Given the description of an element on the screen output the (x, y) to click on. 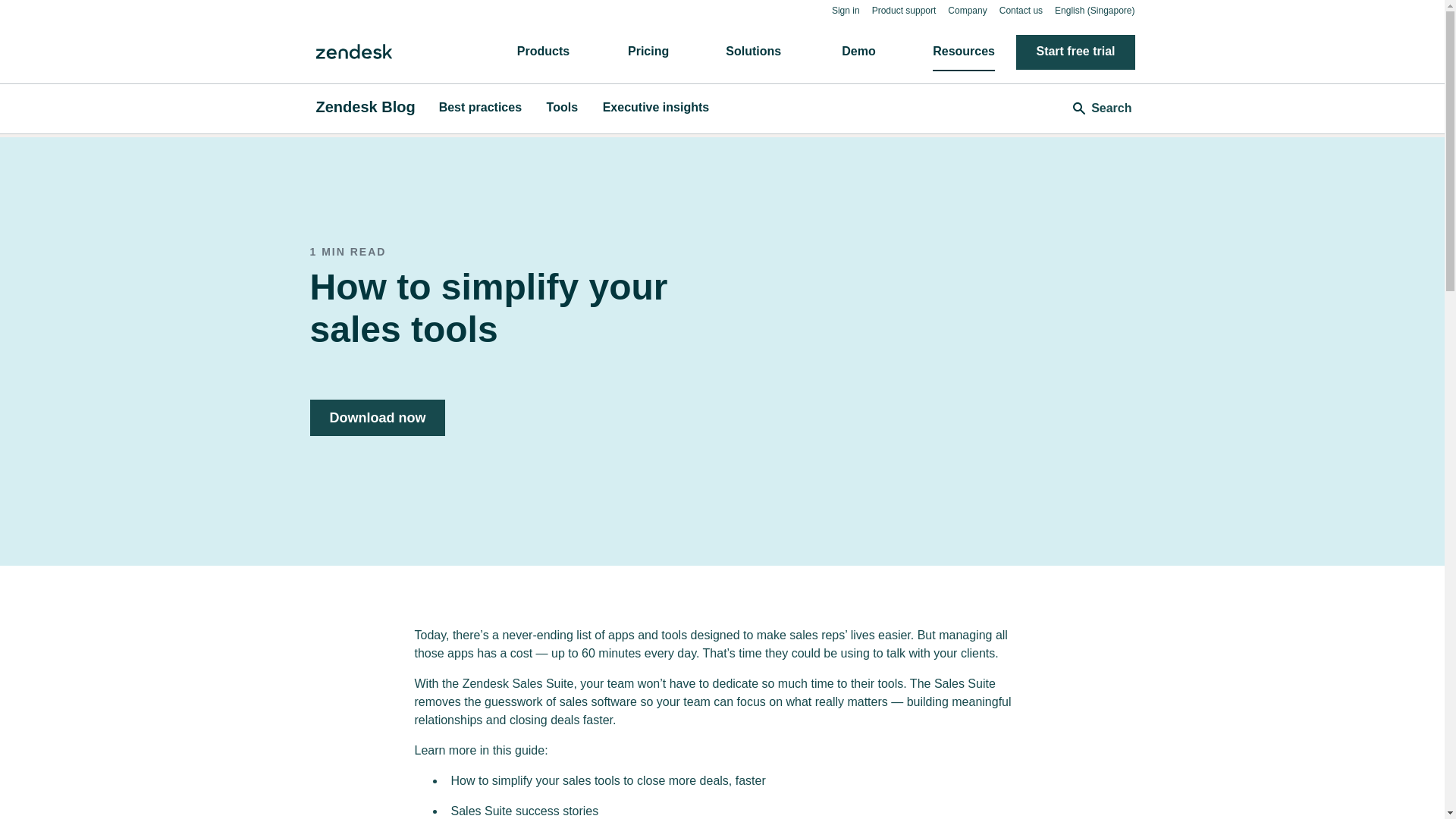
Product support (904, 9)
Sign in (845, 9)
Start free trial (1075, 52)
Company (967, 9)
Contact us (1020, 9)
